Given the description of an element on the screen output the (x, y) to click on. 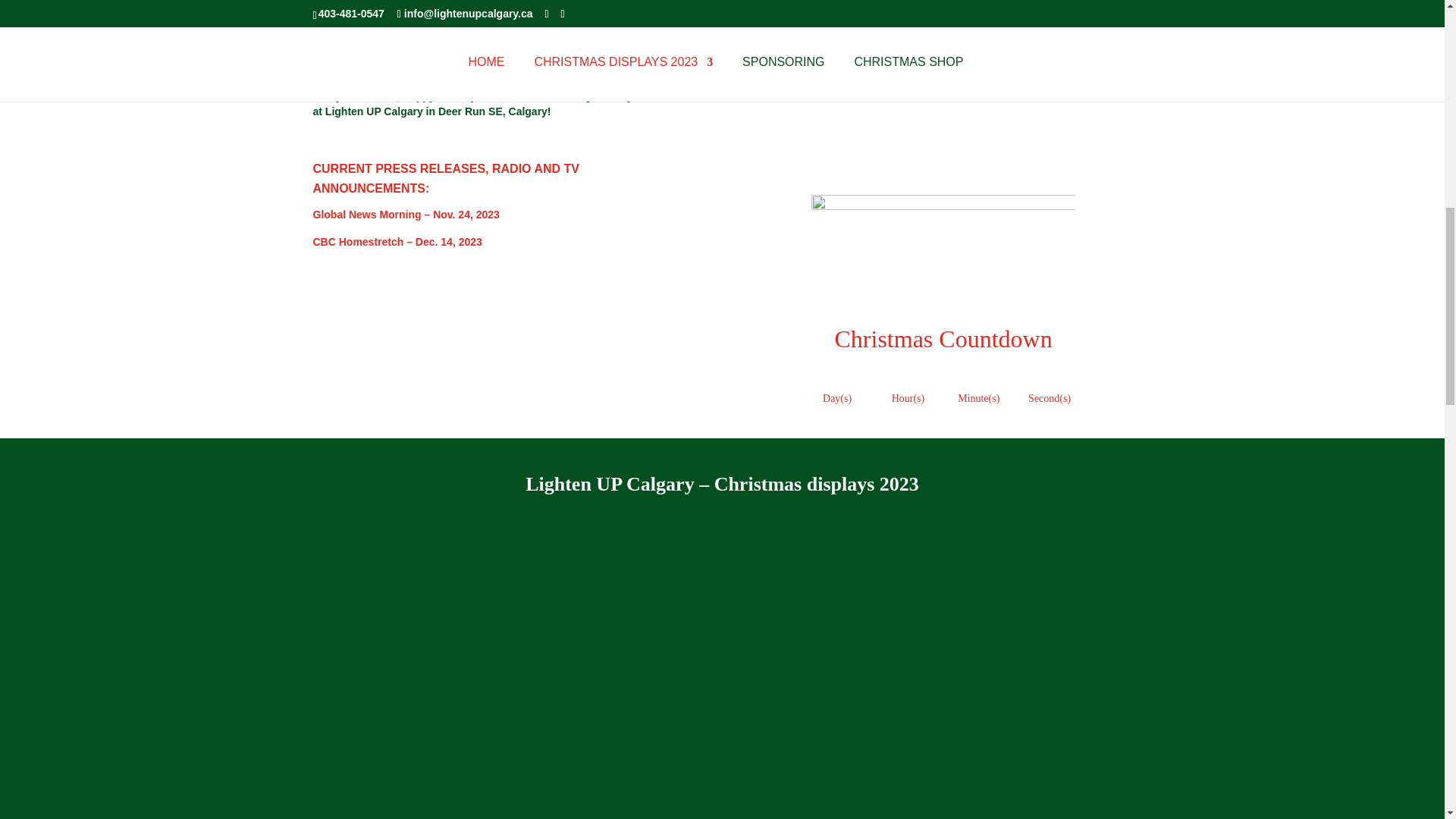
paypal-donate-button-high-quality-png (1043, 103)
Donations 2019 (943, 3)
Donations 2018 (1091, 3)
red bells (942, 260)
QR Code (842, 101)
Donations 2020 (796, 3)
